Given the description of an element on the screen output the (x, y) to click on. 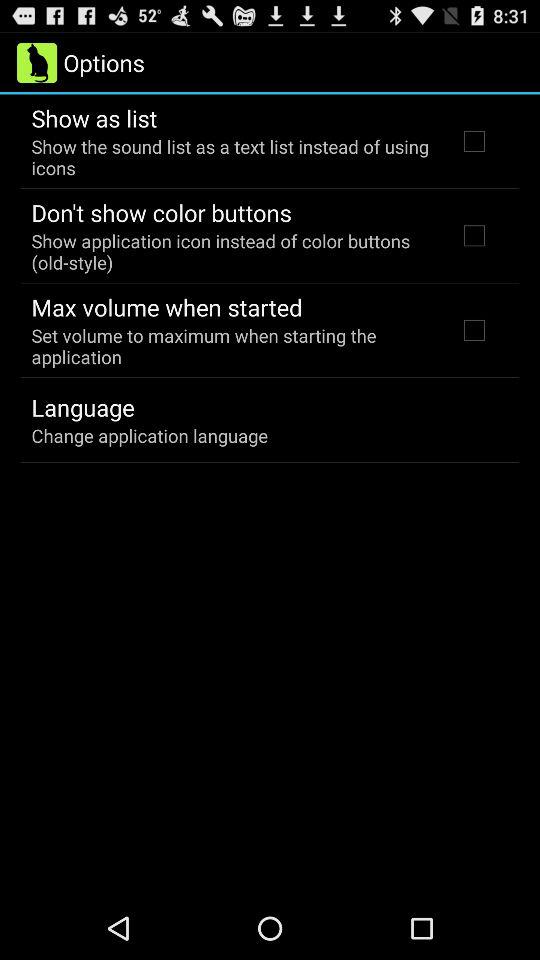
open change application language app (149, 435)
